Given the description of an element on the screen output the (x, y) to click on. 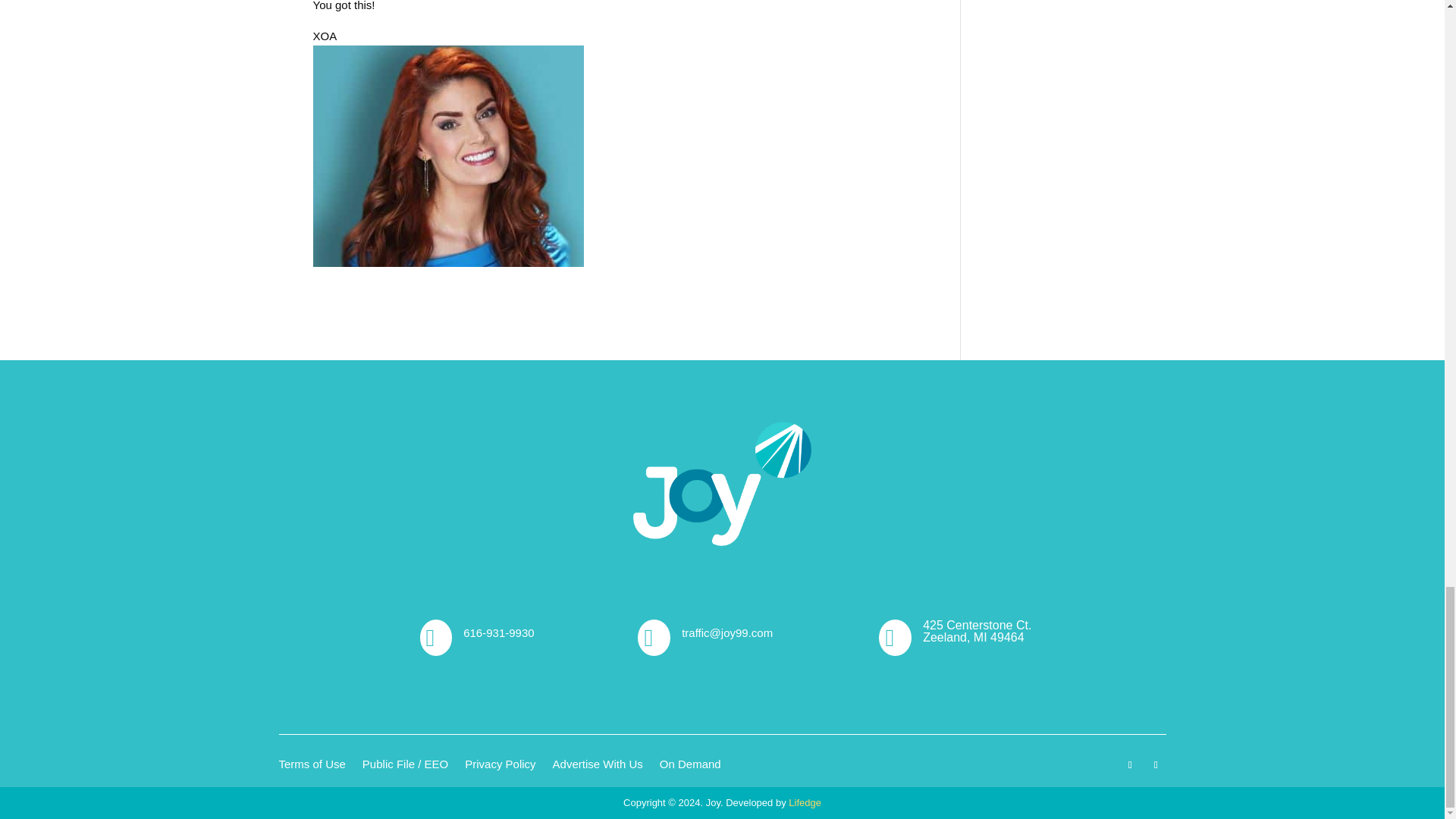
Follow on Instagram (1155, 764)
joy-white (721, 483)
Follow on Facebook (1129, 764)
